Given the description of an element on the screen output the (x, y) to click on. 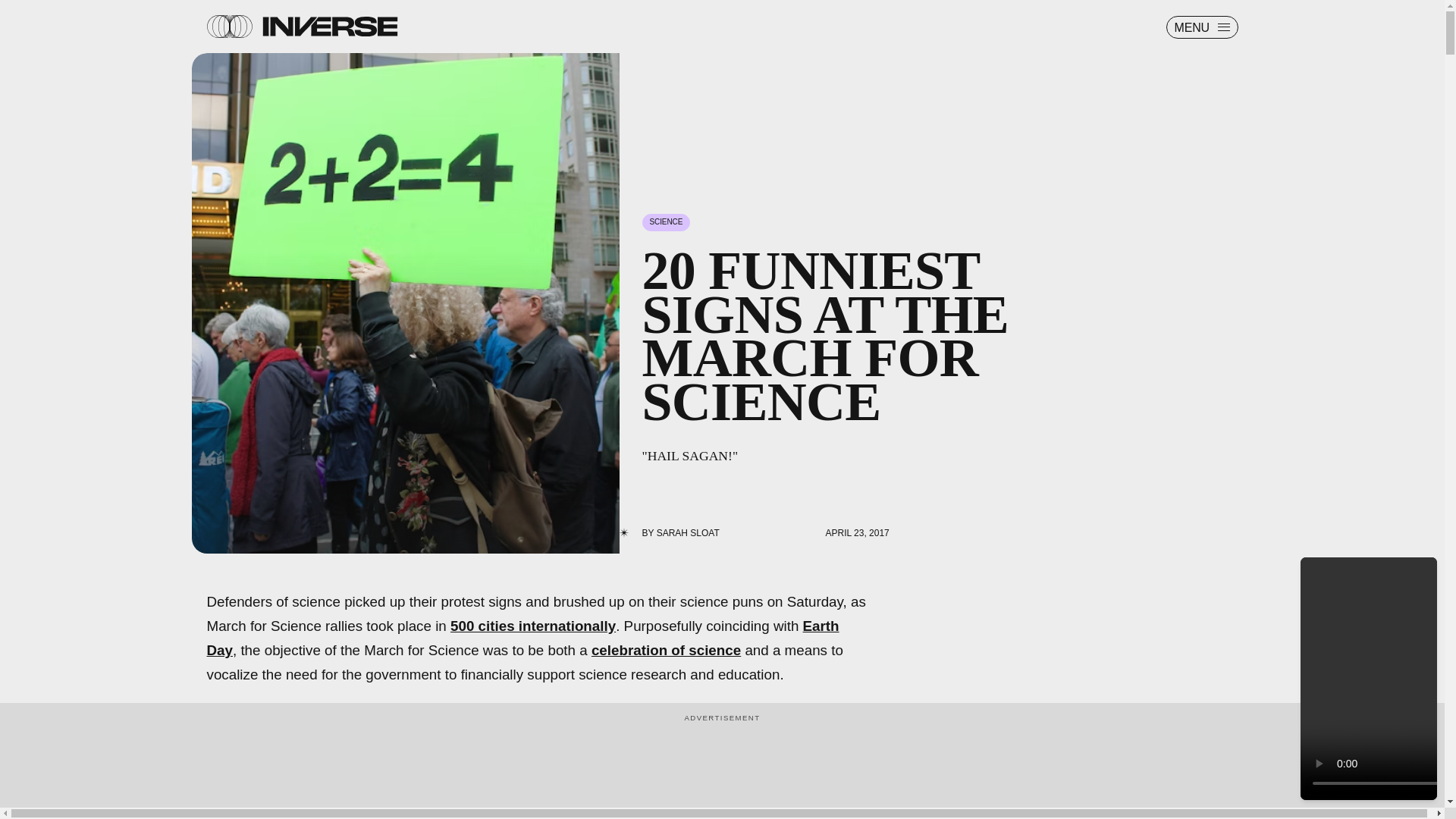
500 cities internationally (532, 625)
Inverse (328, 26)
celebration of science (666, 650)
Earth Day (522, 638)
SARAH SLOAT (687, 532)
